Given the description of an element on the screen output the (x, y) to click on. 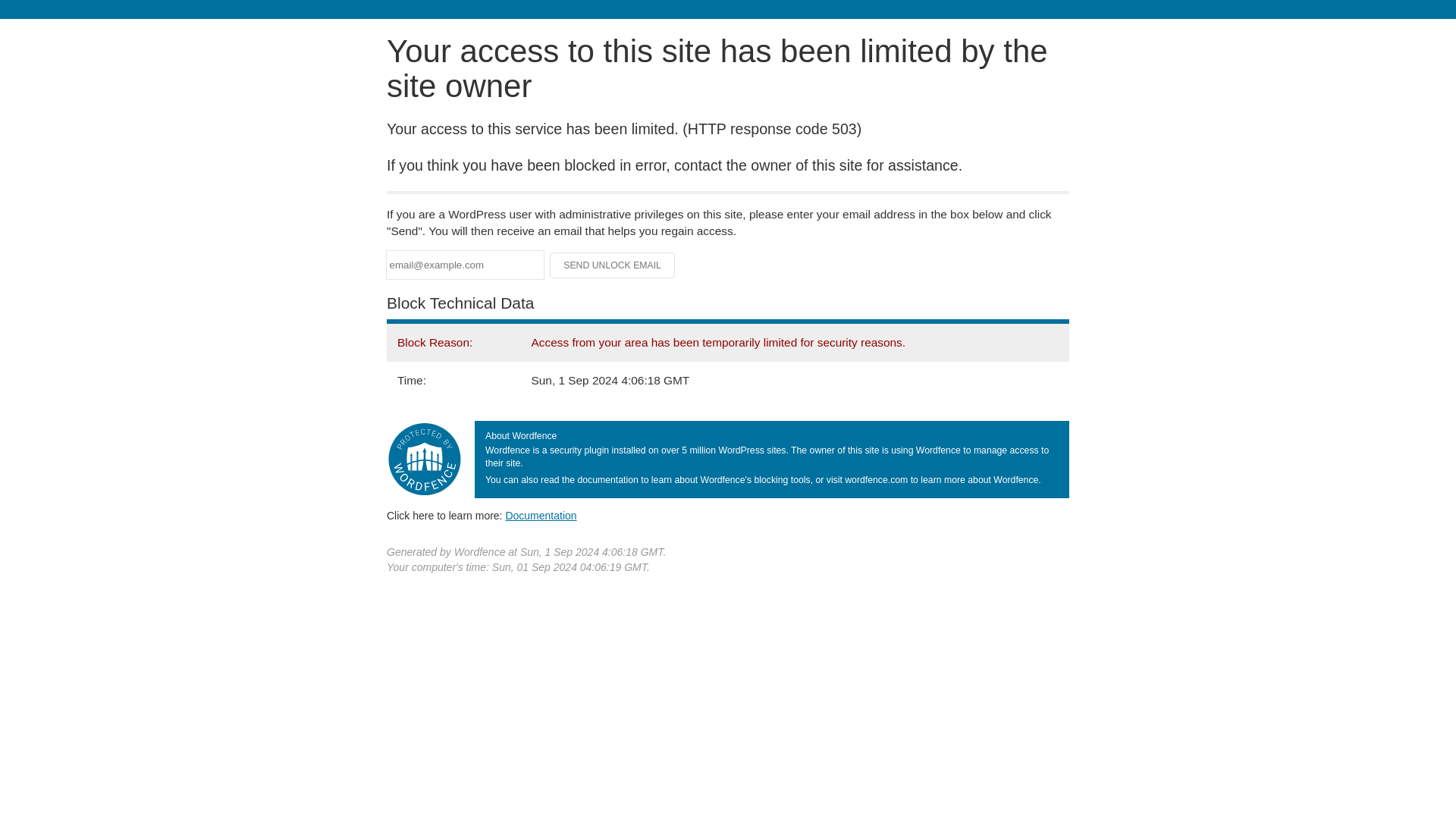
Documentation (540, 515)
Send Unlock Email (612, 265)
Send Unlock Email (612, 265)
